Given the description of an element on the screen output the (x, y) to click on. 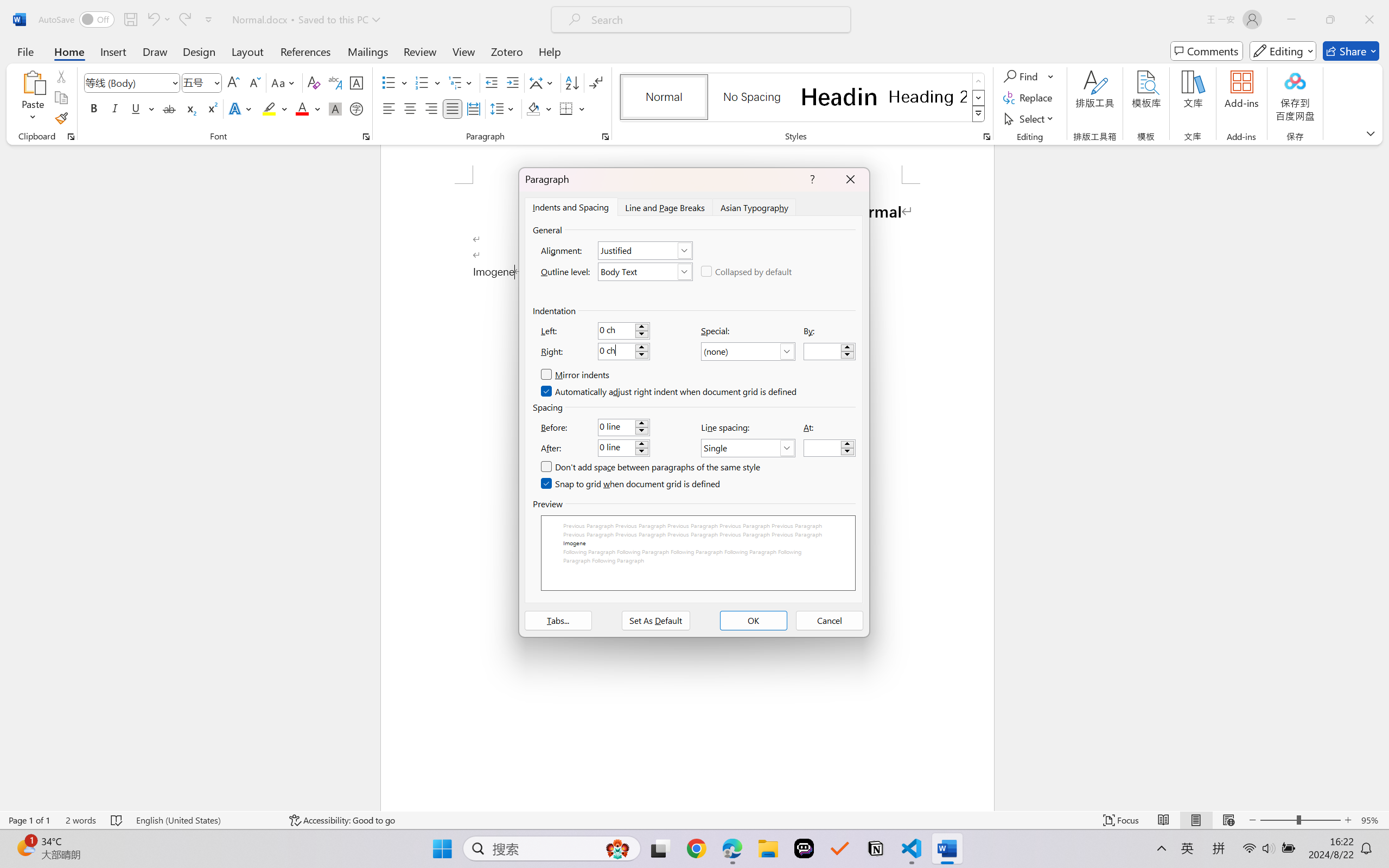
At: (829, 447)
Mode (1283, 50)
Text Effects and Typography (241, 108)
Align Left (388, 108)
Row Down (978, 97)
Replace... (1029, 97)
Superscript (210, 108)
Office Clipboard... (70, 136)
Snap to grid when document grid is defined (631, 483)
Class: MsoCommandBar (694, 819)
Styles (978, 113)
